Given the description of an element on the screen output the (x, y) to click on. 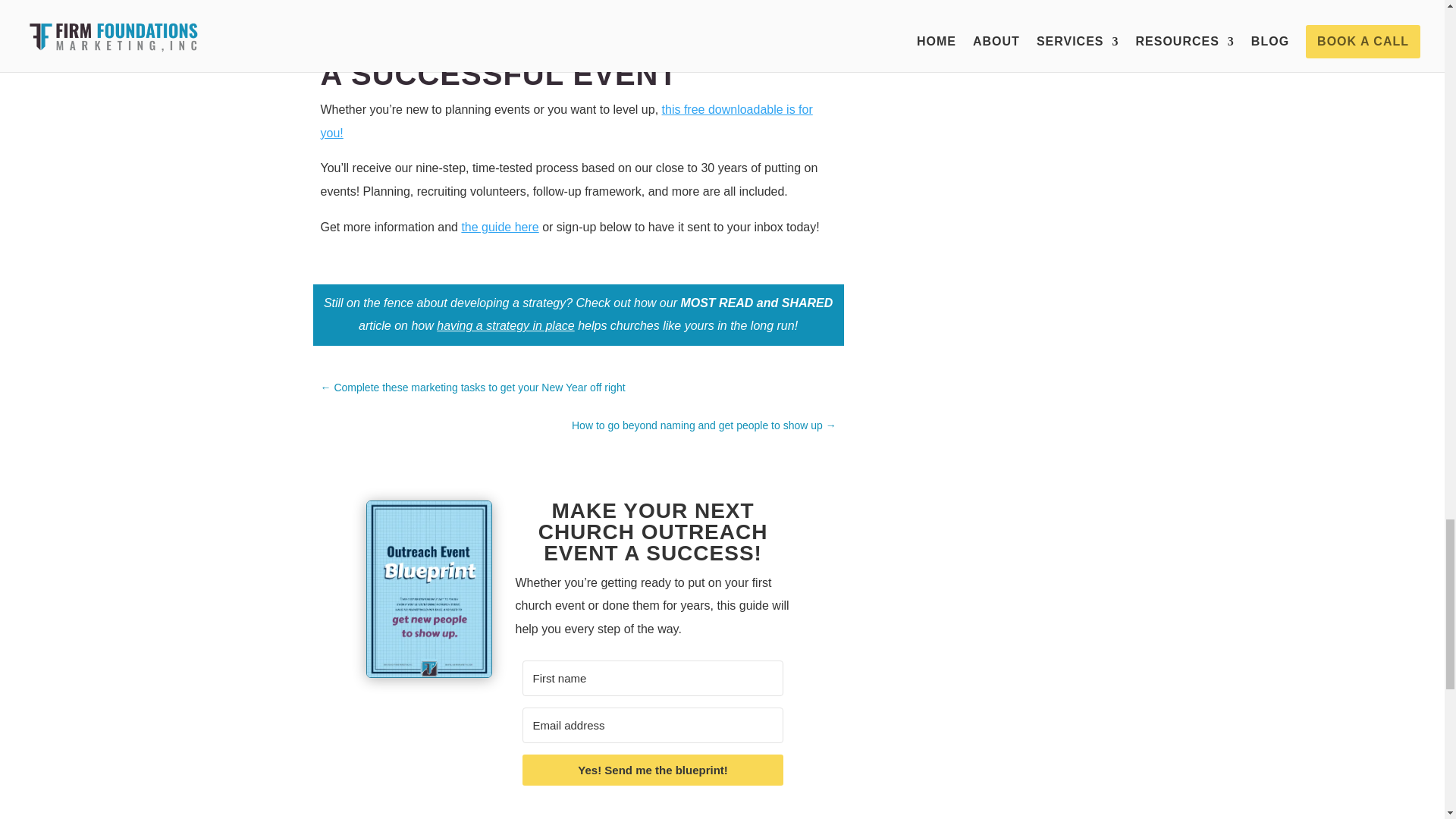
the guide here (499, 226)
this free downloadable is for you! (566, 121)
